Given the description of an element on the screen output the (x, y) to click on. 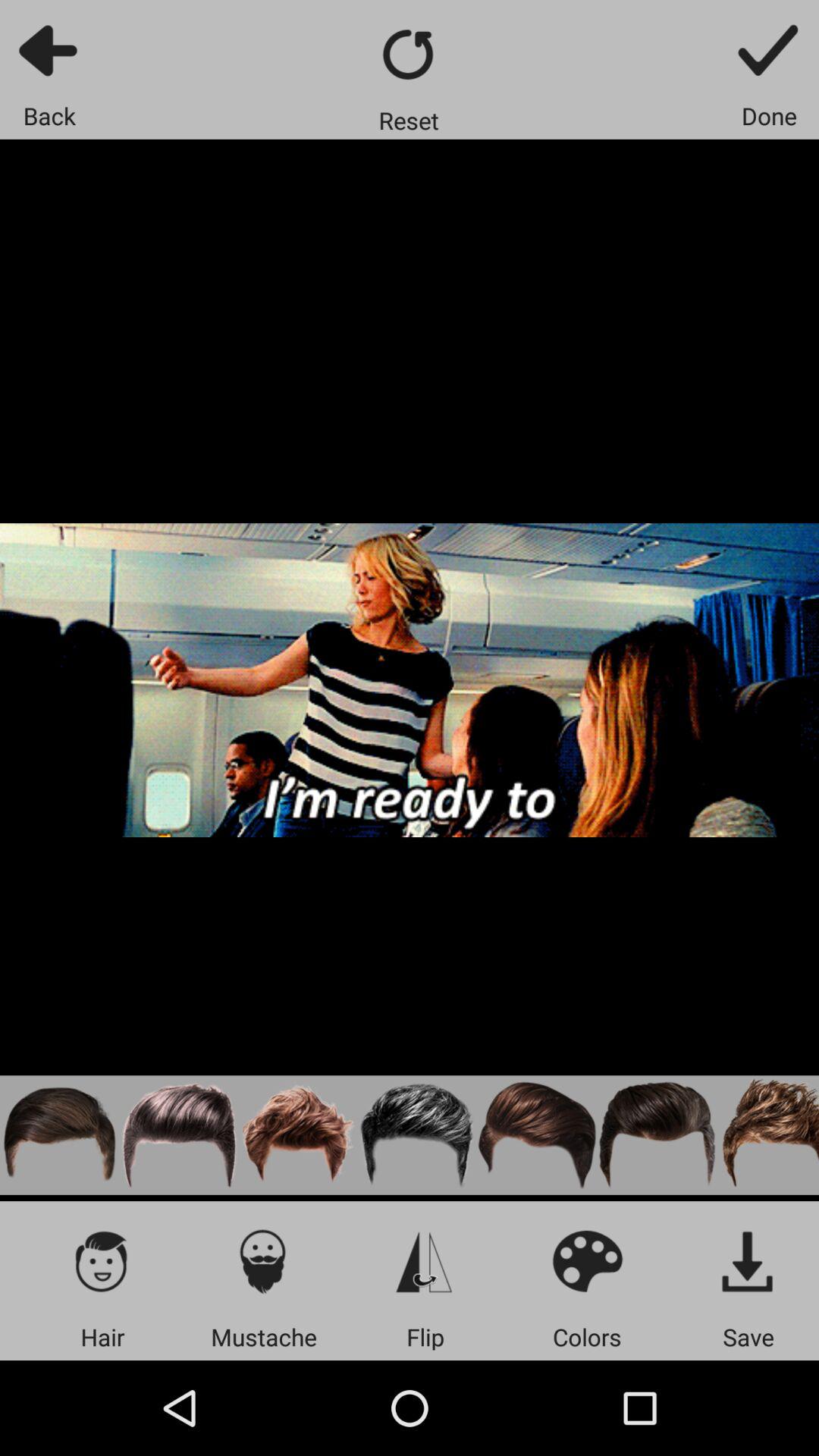
select this hairstyle (767, 1134)
